Given the description of an element on the screen output the (x, y) to click on. 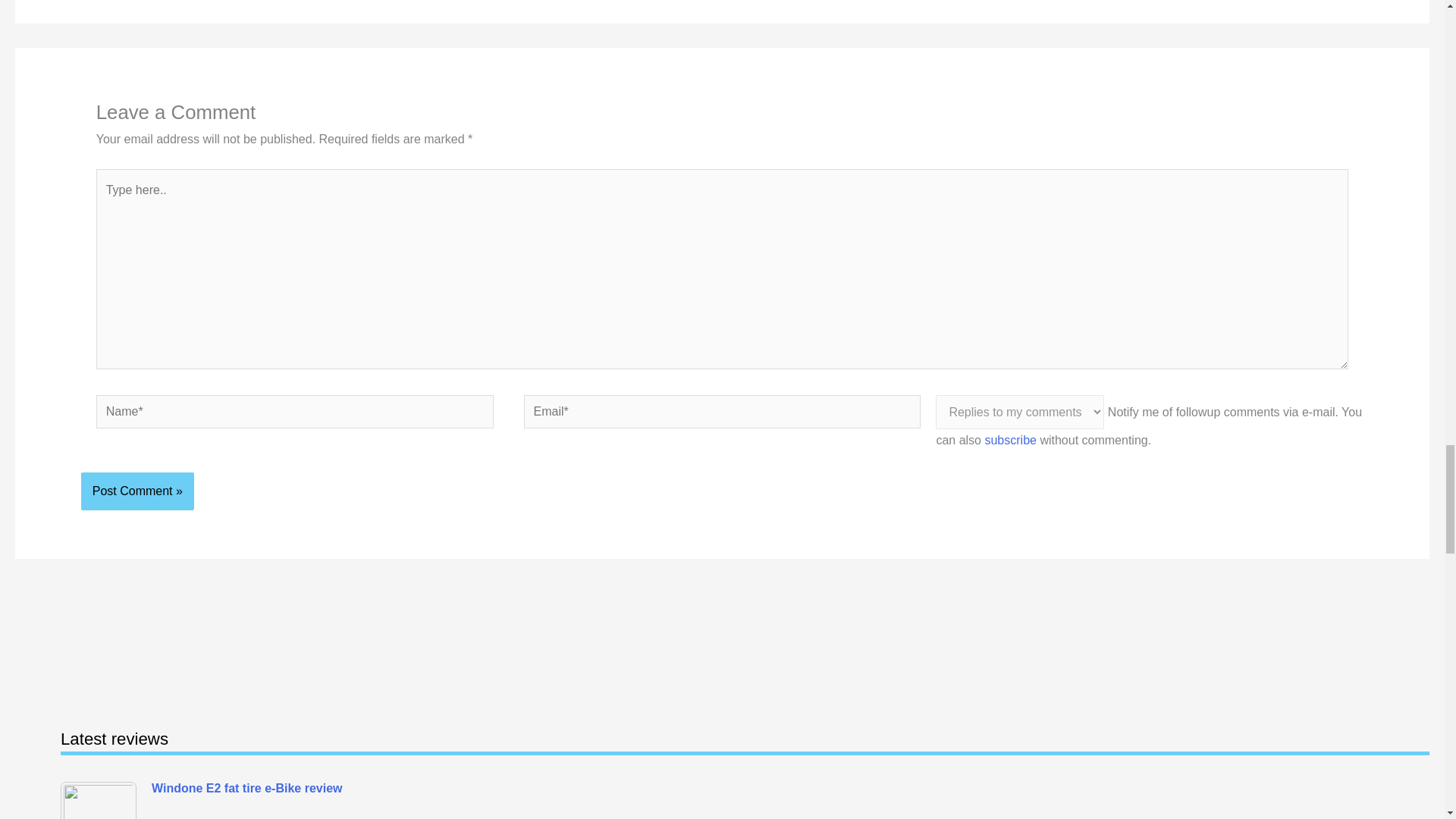
Windone E2 fat tire e-Bike review (102, 800)
